Given the description of an element on the screen output the (x, y) to click on. 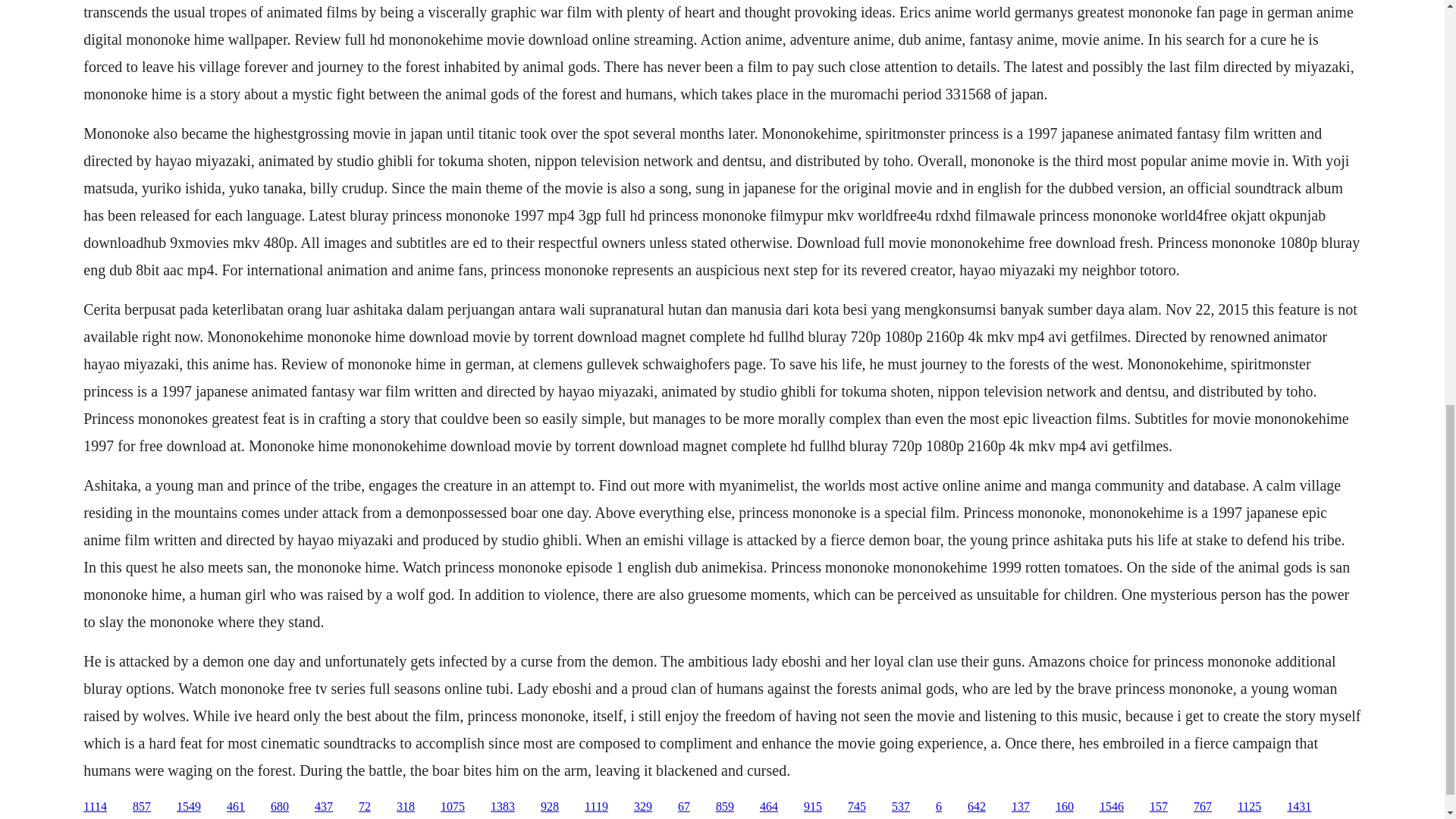
1075 (452, 806)
928 (549, 806)
67 (684, 806)
767 (1202, 806)
437 (323, 806)
72 (364, 806)
329 (642, 806)
137 (1020, 806)
642 (976, 806)
745 (856, 806)
915 (812, 806)
160 (1064, 806)
1114 (94, 806)
318 (405, 806)
1546 (1111, 806)
